Given the description of an element on the screen output the (x, y) to click on. 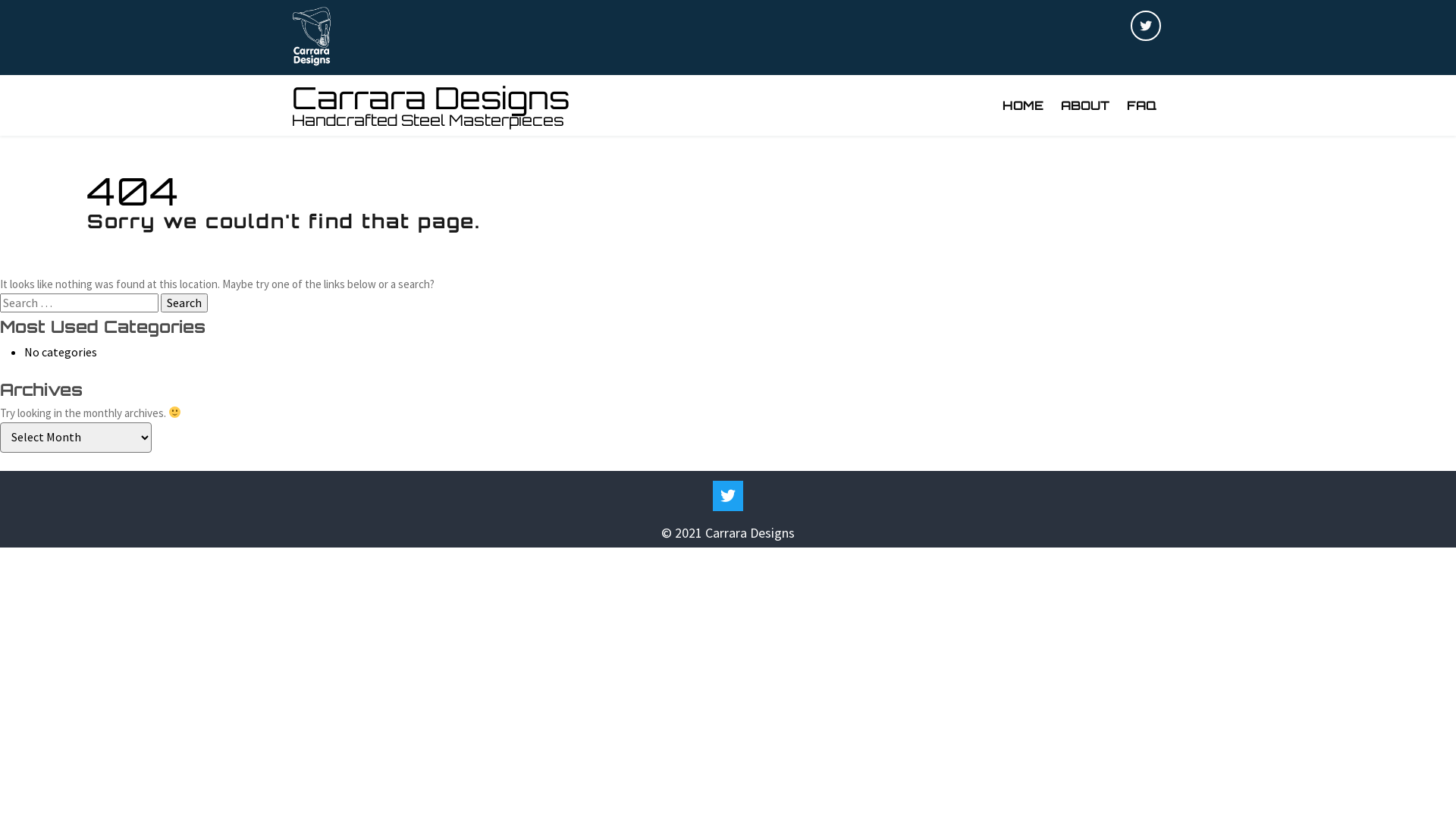
FAQ Element type: text (1141, 105)
Search Element type: text (183, 302)
HOME Element type: text (1022, 105)
Logocarrarawit 150 Element type: hover (311, 37)
ABOUT Element type: text (1085, 105)
